Given the description of an element on the screen output the (x, y) to click on. 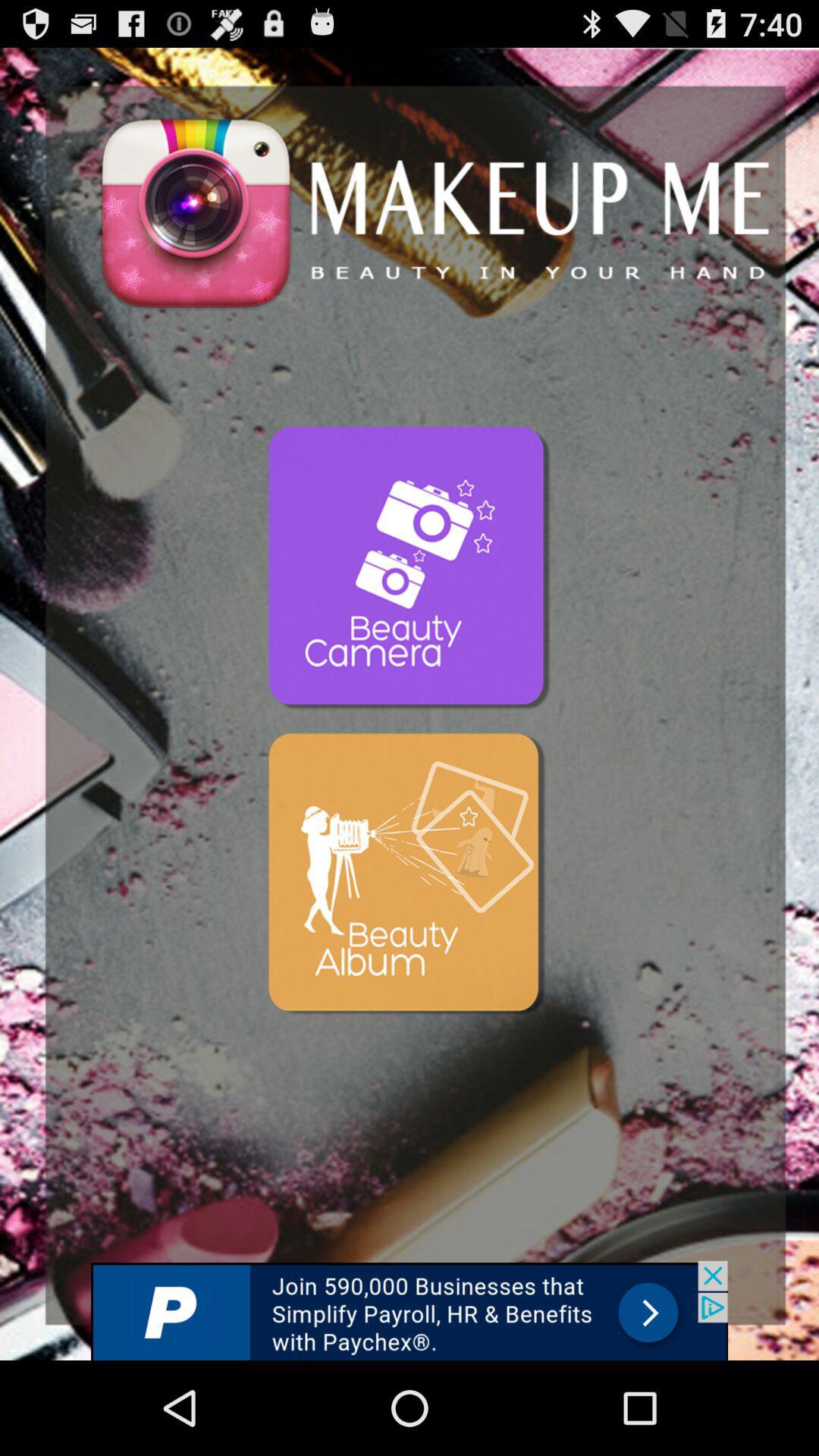
advertisement (409, 1310)
